Given the description of an element on the screen output the (x, y) to click on. 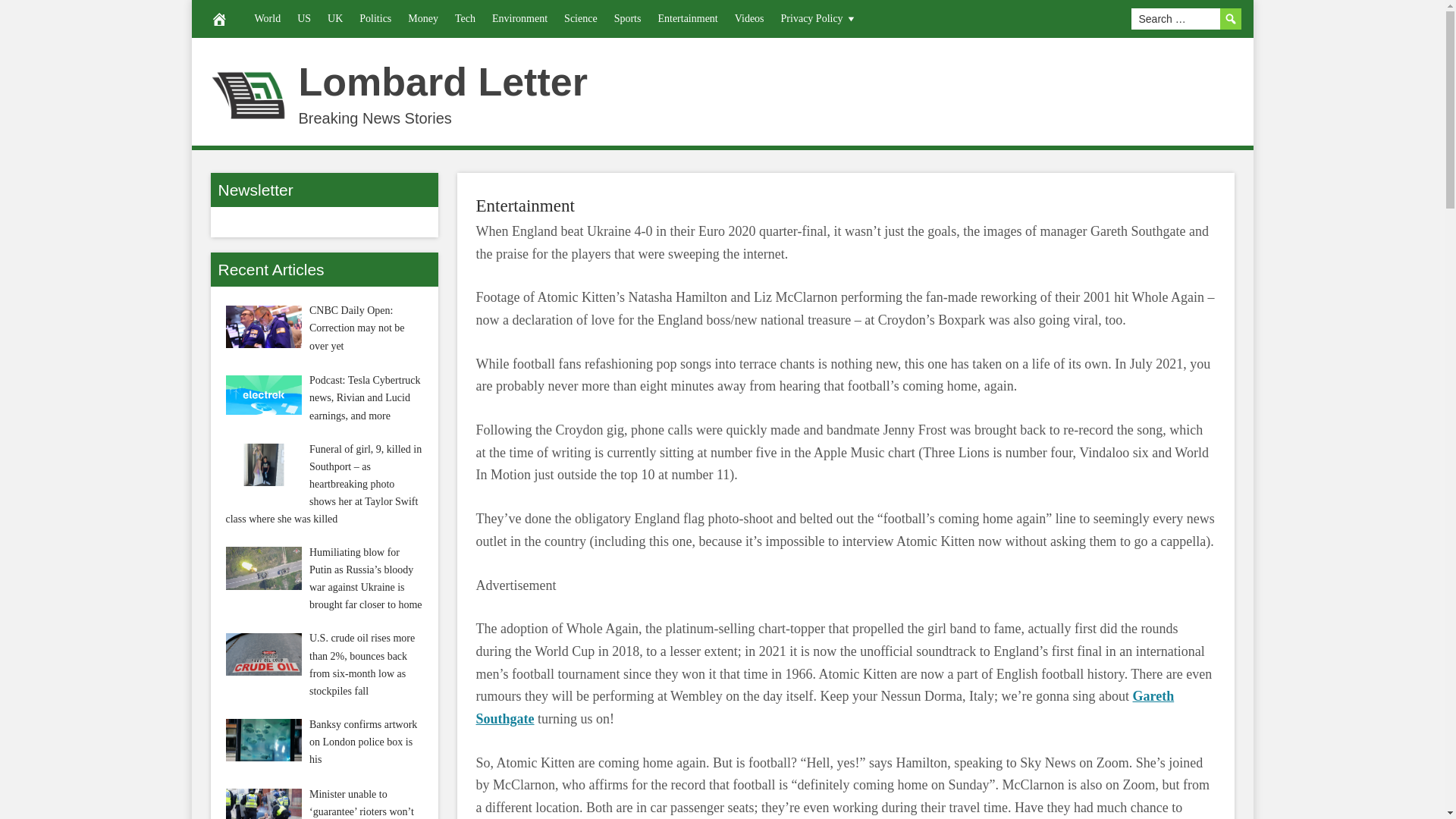
Entertainment (687, 18)
Tech (464, 18)
World (267, 18)
Money (422, 18)
Politics (374, 18)
Science (580, 18)
Privacy Policy (819, 18)
Environment (519, 18)
Entertainment (525, 205)
